Given the description of an element on the screen output the (x, y) to click on. 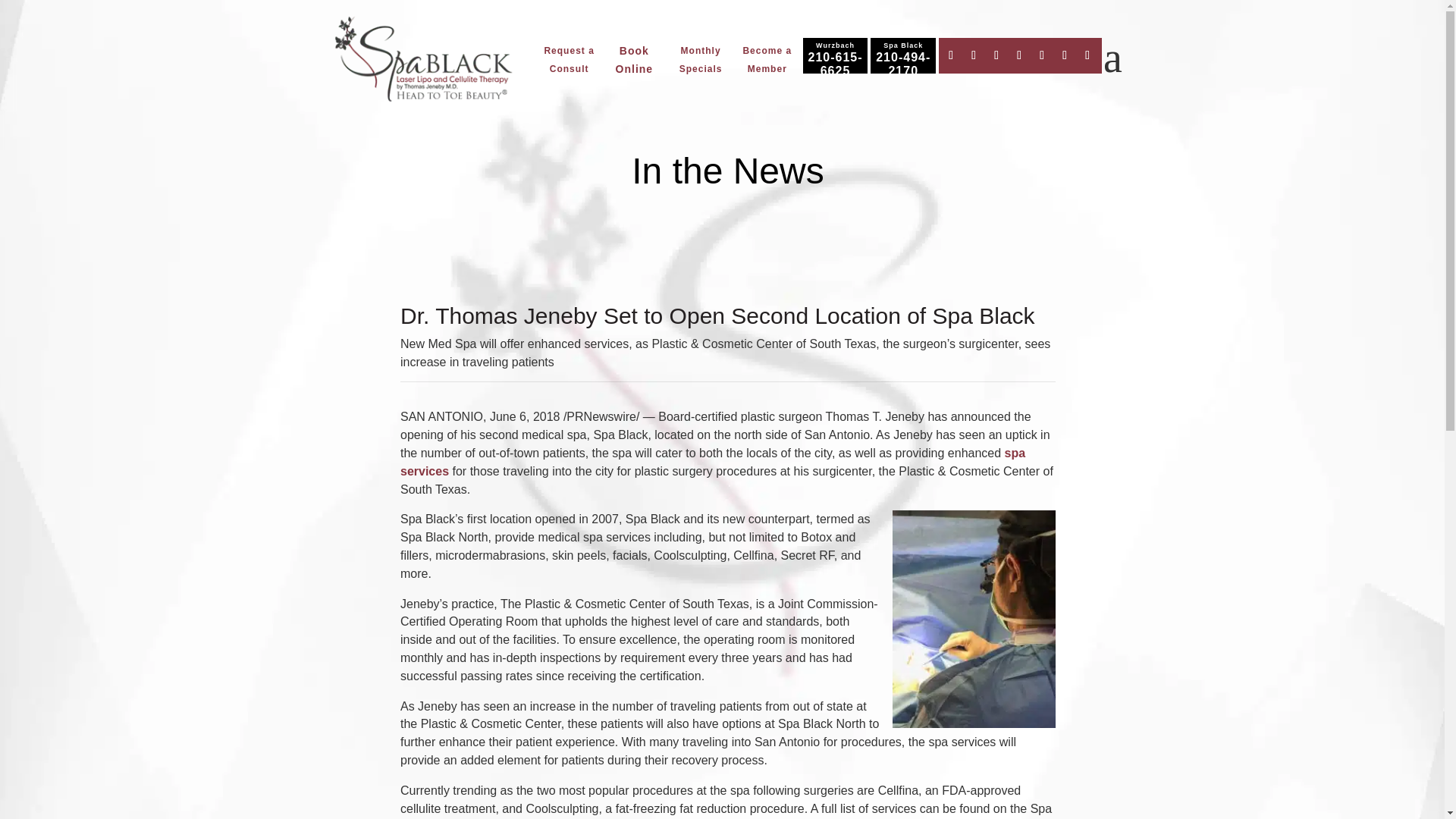
Follow on Facebook (950, 55)
Follow on X (972, 55)
210-890-2385 (903, 63)
Spa Black (423, 61)
Follow on TikTok (1064, 55)
Follow on Youtube (1041, 55)
210-494-2170 (903, 63)
Follow on Instagram (996, 55)
Follow on Pinterest (1018, 55)
210-615-6625 (834, 63)
Follow on Snapchat (1087, 55)
